Given the description of an element on the screen output the (x, y) to click on. 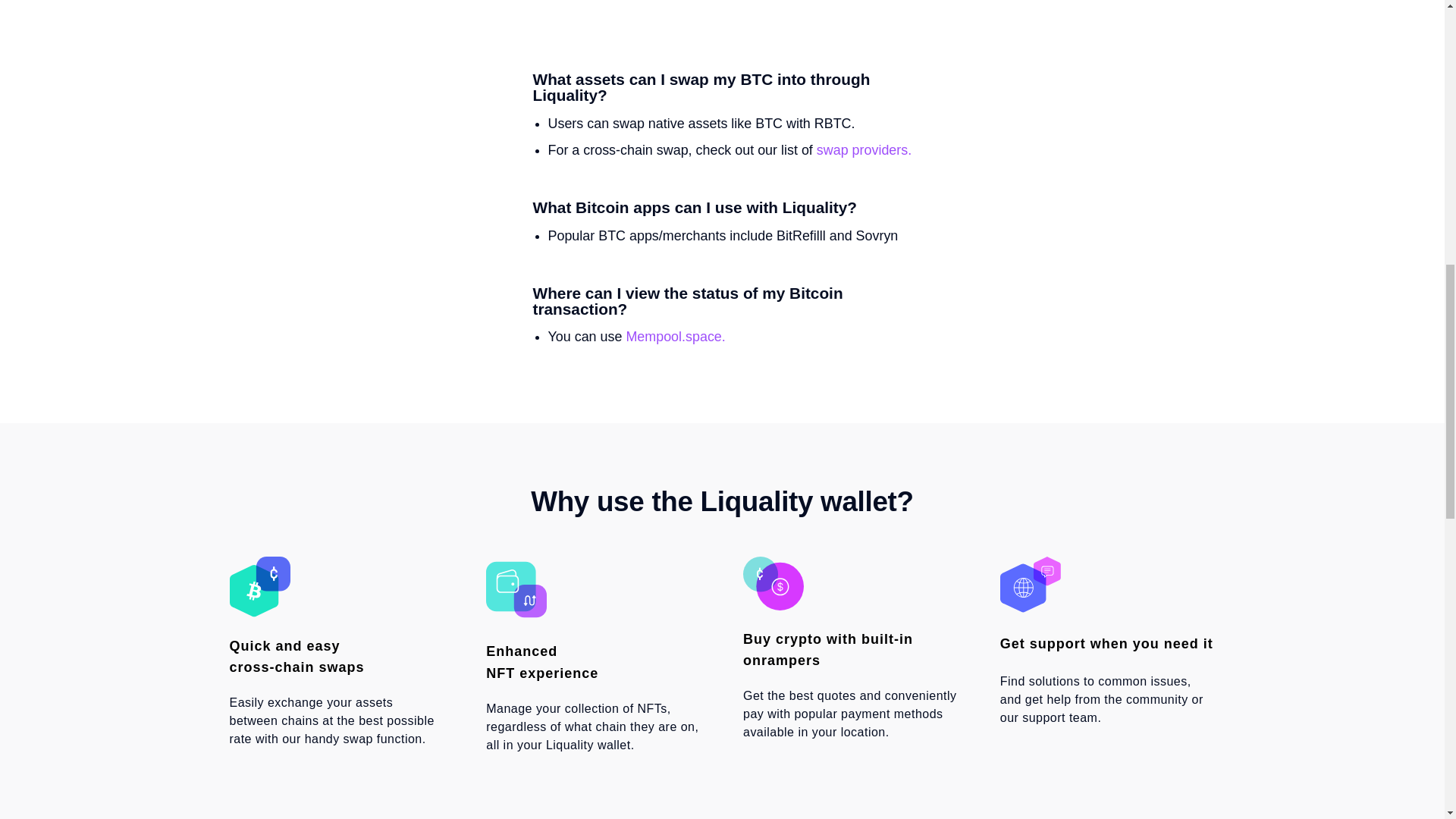
Mempool.space. (675, 336)
swap providers. (863, 150)
